Given the description of an element on the screen output the (x, y) to click on. 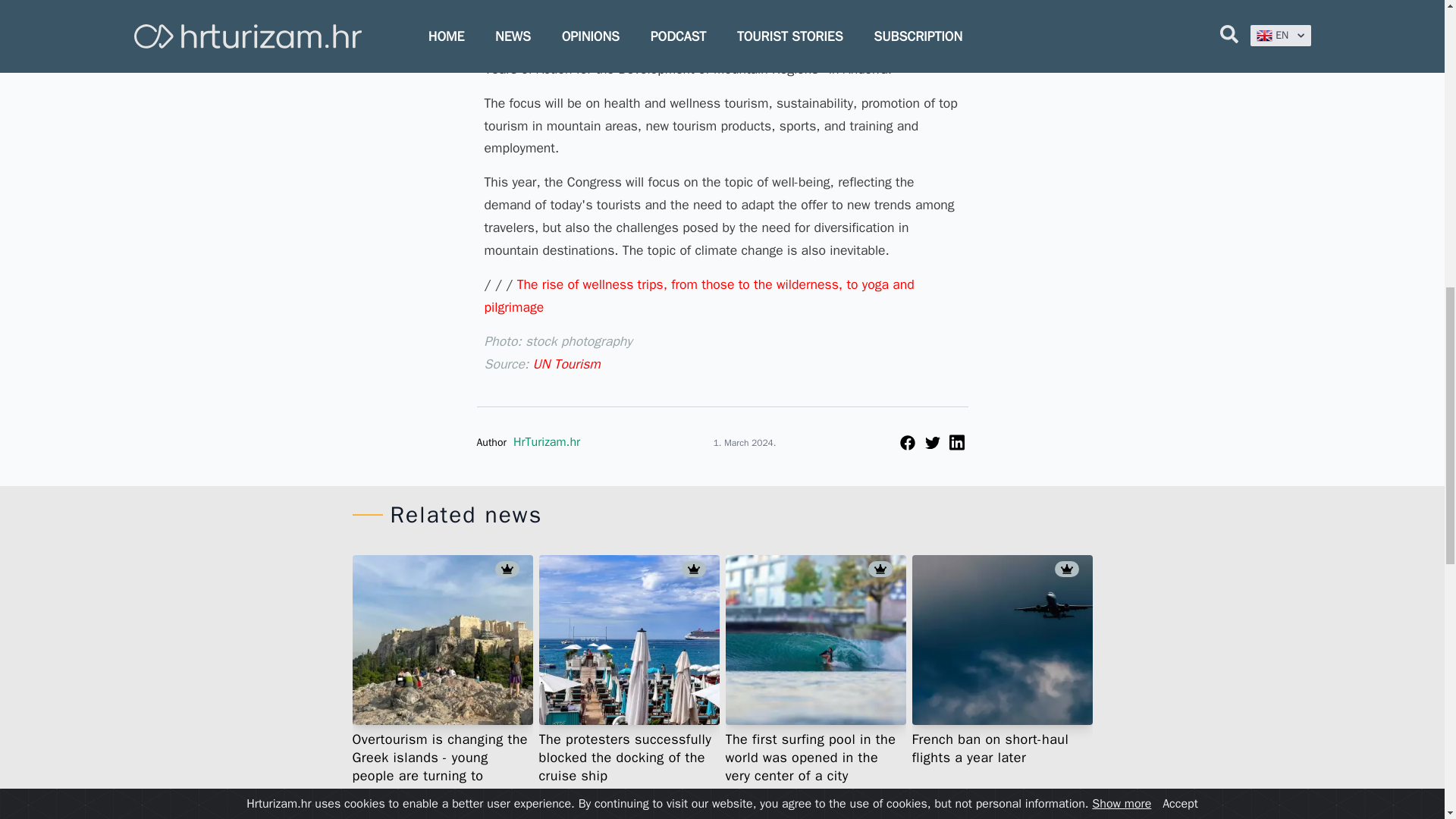
HrTurizam.hr (546, 441)
UN Tourism (565, 363)
